Given the description of an element on the screen output the (x, y) to click on. 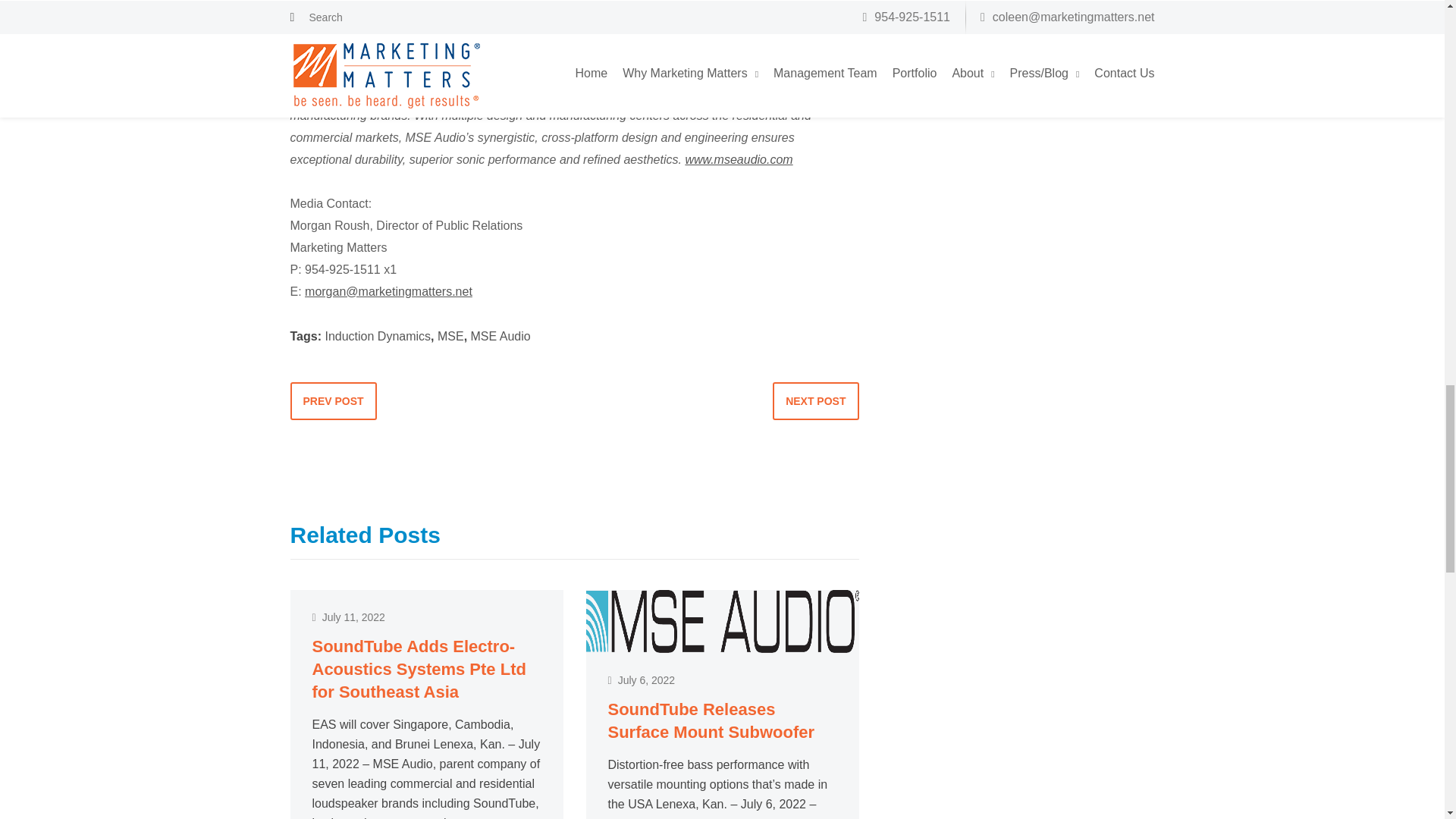
www.mseaudio.com (738, 159)
mseaudio.com (570, 6)
Instagram (358, 27)
Facebook (794, 6)
YouTube (436, 27)
MSE Audio (500, 336)
MSE (451, 336)
Induction Dynamics (377, 336)
Twitter (306, 27)
